Given the description of an element on the screen output the (x, y) to click on. 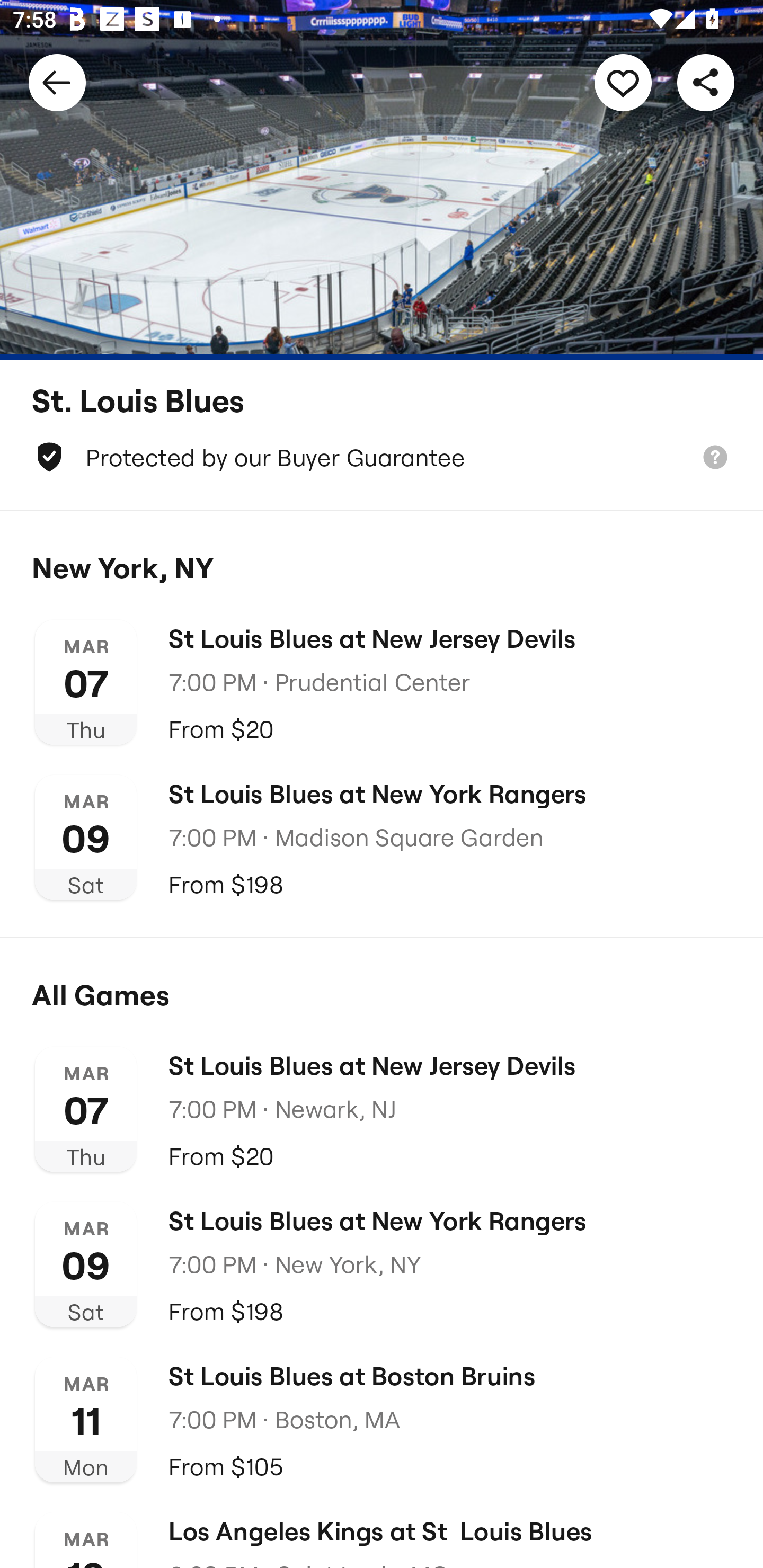
Back (57, 81)
Track this performer (623, 81)
Share this performer (705, 81)
Protected by our Buyer Guarantee Learn more (381, 456)
